Given the description of an element on the screen output the (x, y) to click on. 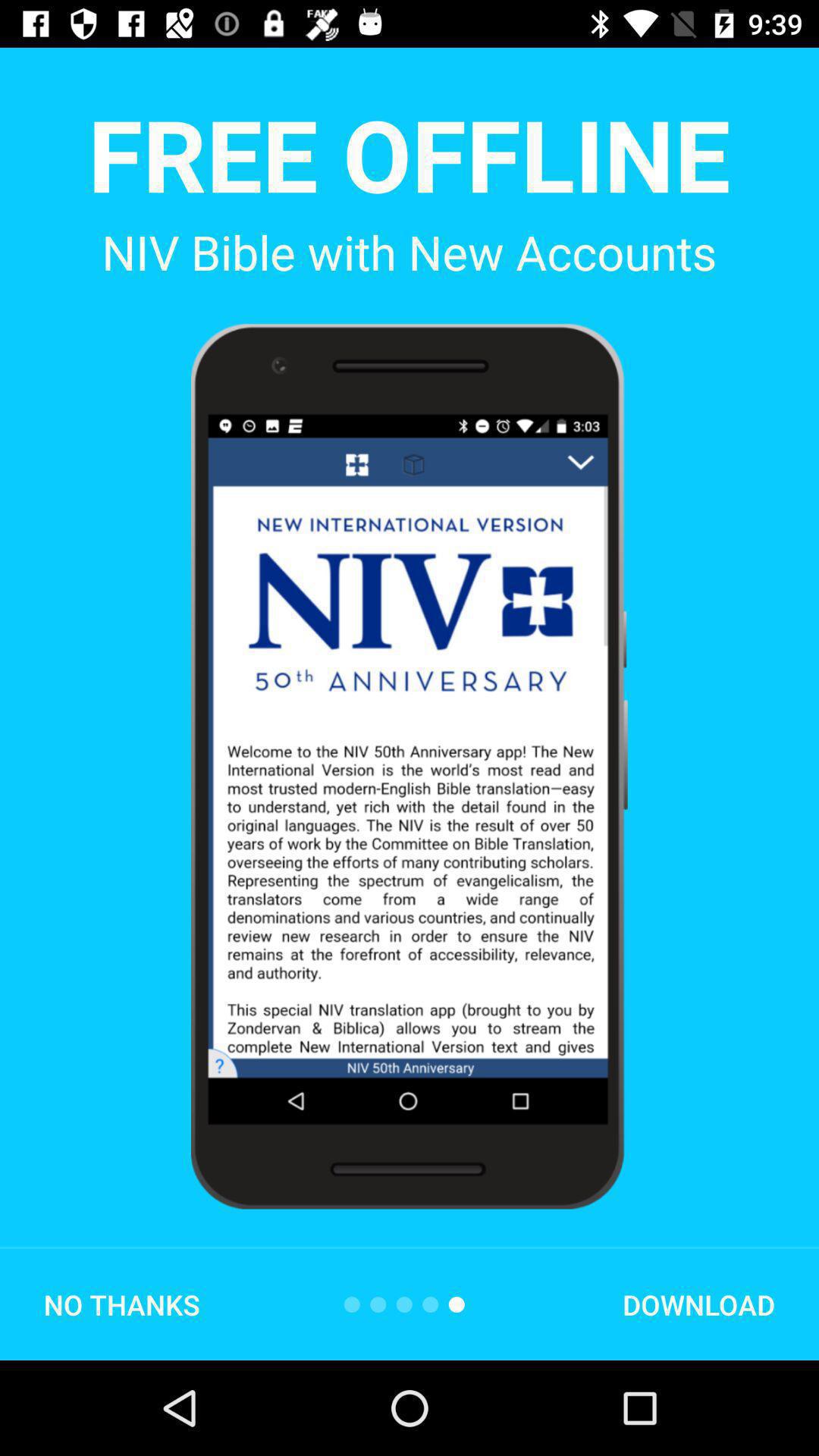
open the app above niv bible with item (409, 153)
